Given the description of an element on the screen output the (x, y) to click on. 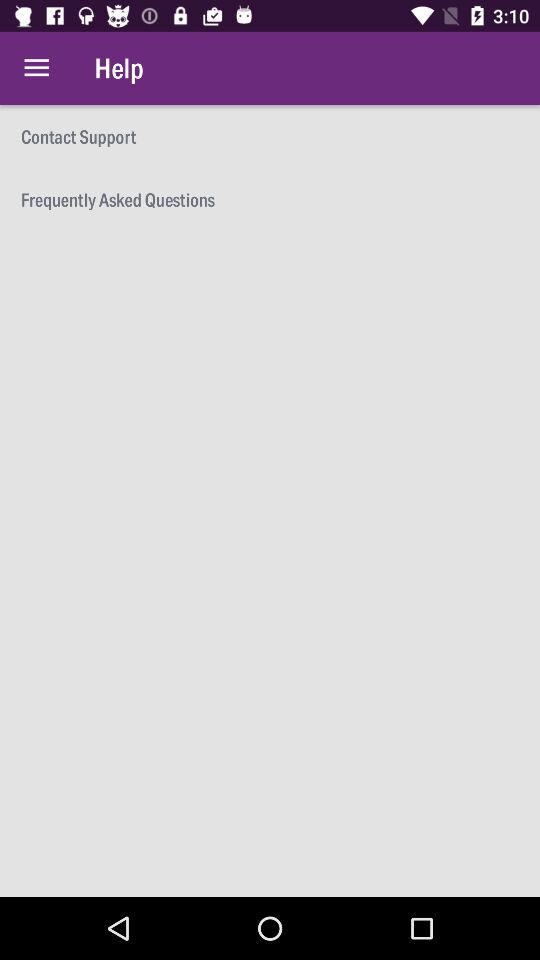
scroll until the contact support item (270, 136)
